Given the description of an element on the screen output the (x, y) to click on. 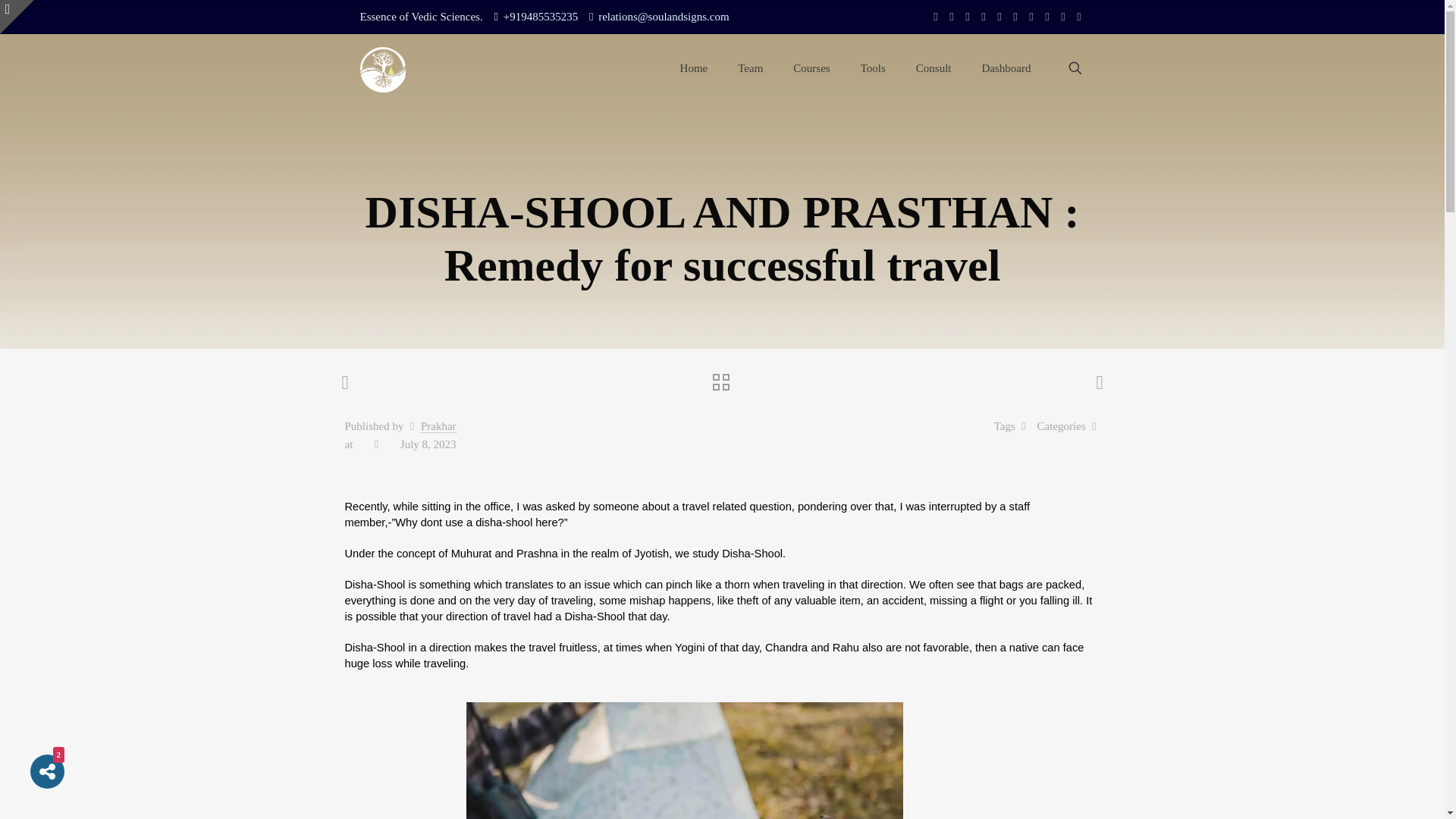
Prakhar (438, 426)
Instagram (1030, 16)
Tumblr (1047, 16)
Telegram (1062, 16)
Courses (810, 68)
Dashboard (1006, 68)
Consult (933, 68)
WhatsApp (952, 16)
LinkedIn (998, 16)
Pinterest (1016, 16)
Facebook (966, 16)
RSS (1079, 16)
YouTube (935, 16)
